Given the description of an element on the screen output the (x, y) to click on. 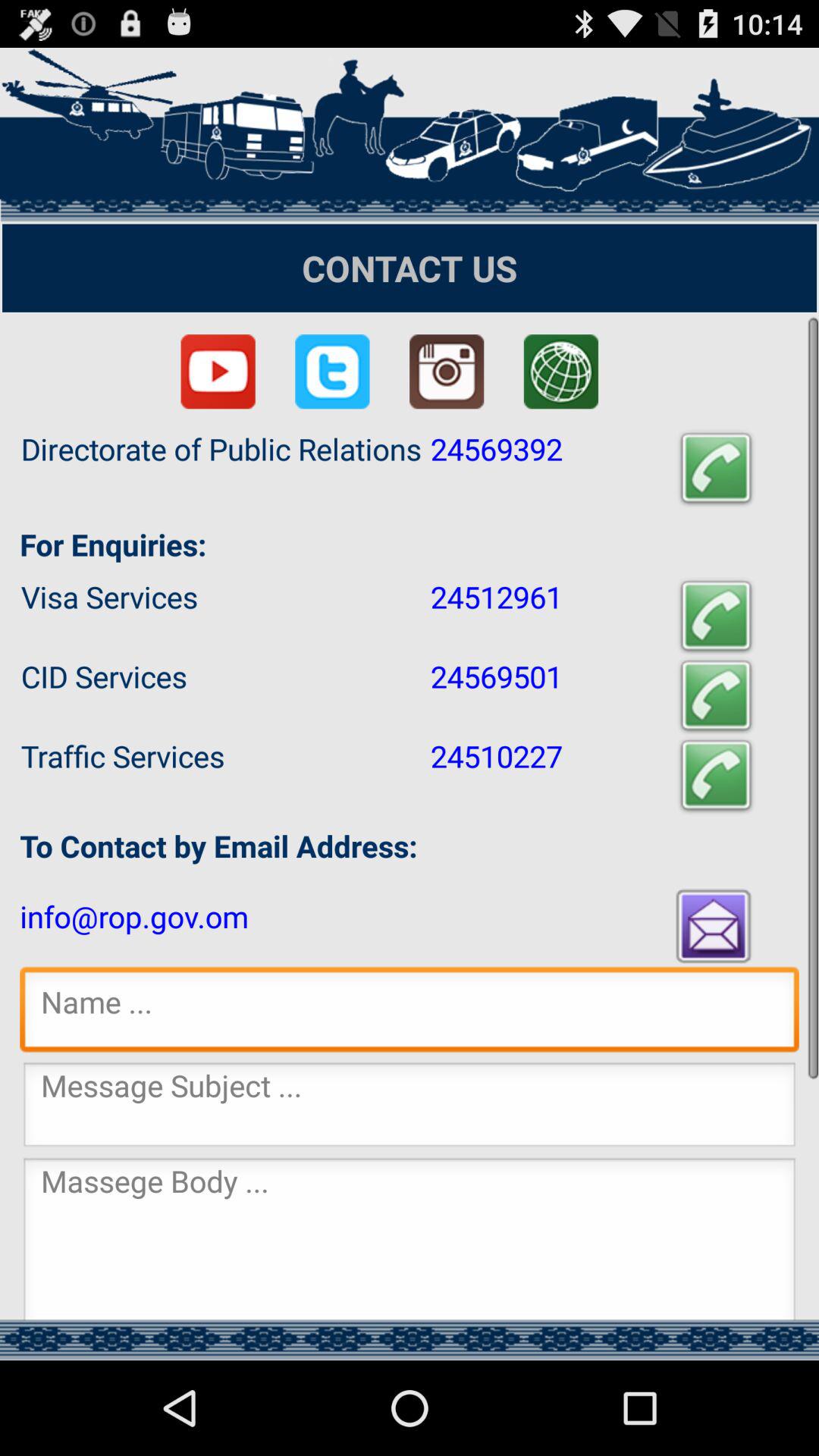
initiate call icon (716, 616)
